Given the description of an element on the screen output the (x, y) to click on. 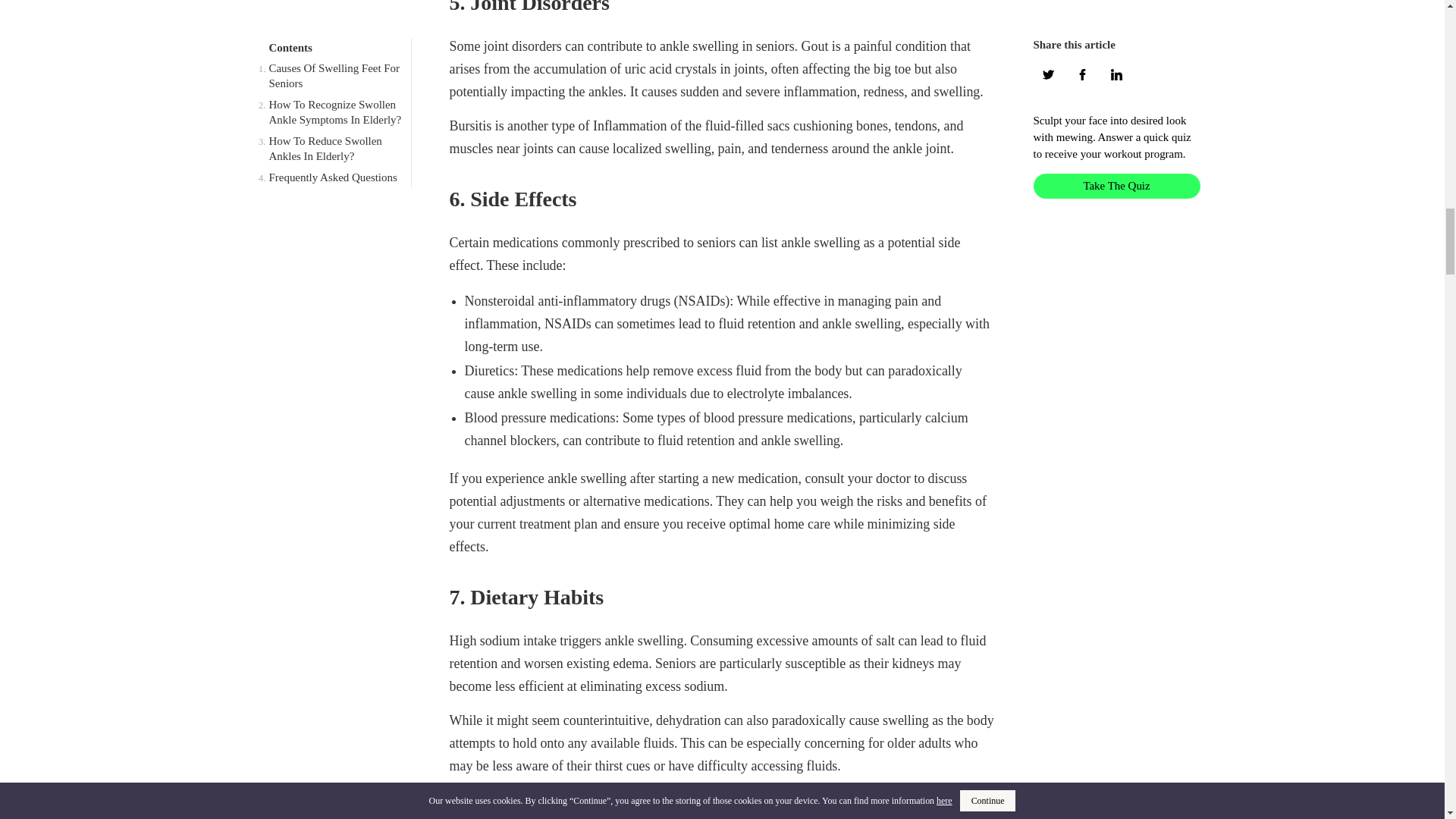
swollen ankles due to dehydration (837, 816)
